Given the description of an element on the screen output the (x, y) to click on. 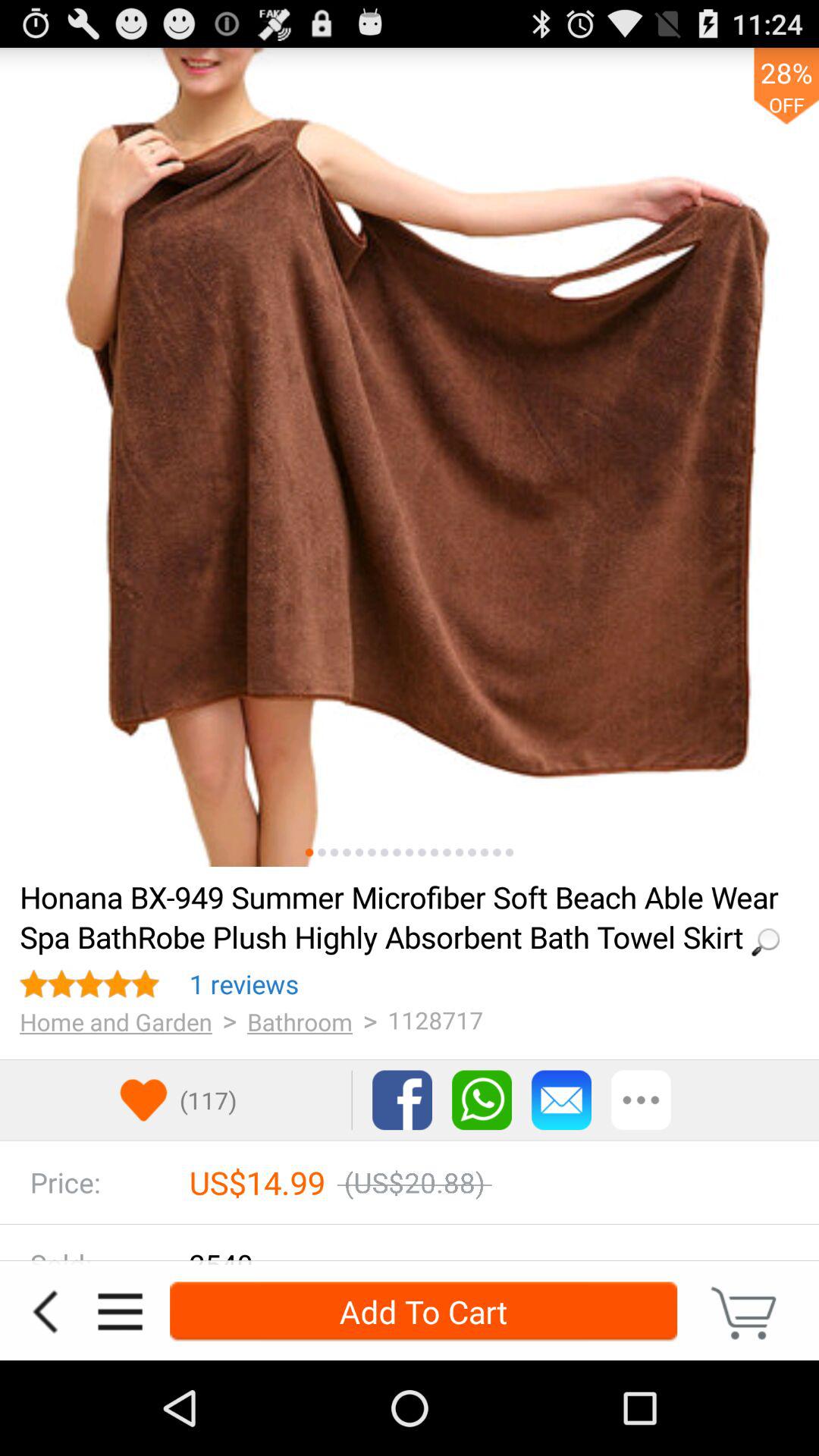
choose the icon above loading... item (334, 852)
